Given the description of an element on the screen output the (x, y) to click on. 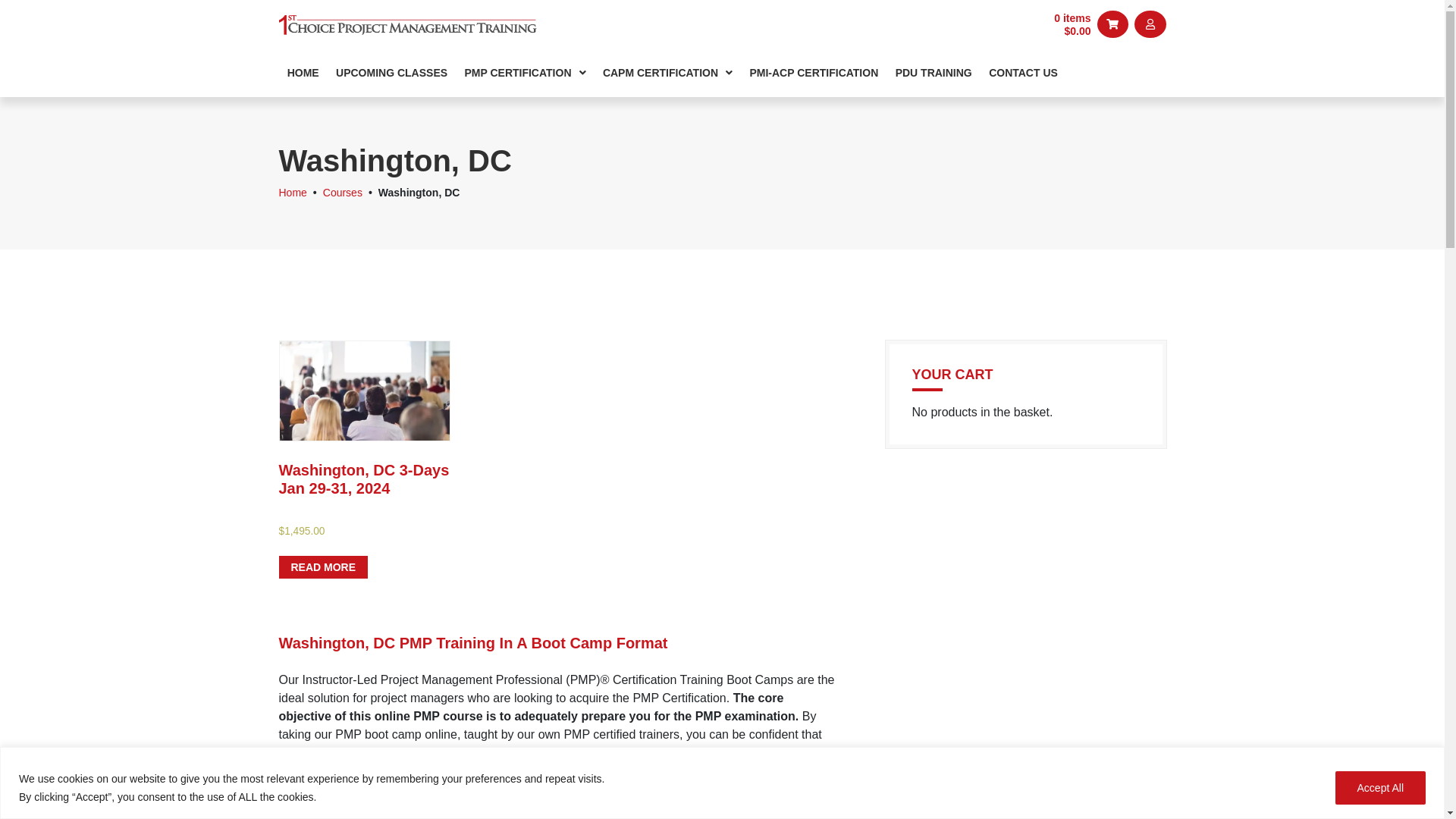
PMP CERTIFICATION Element type: text (524, 73)
CONTACT US Element type: text (1023, 73)
Courses Element type: text (342, 192)
Accept All Element type: text (1380, 786)
HOME Element type: text (303, 73)
PDU TRAINING Element type: text (933, 73)
UPCOMING CLASSES Element type: text (391, 73)
Washington, DC 3-Days Jan 29-31, 2024
$1,495.00 Element type: text (365, 456)
0 items
$0.00 Element type: text (1072, 24)
PMI-ACP CERTIFICATION Element type: text (813, 73)
Home Element type: text (293, 192)
CAPM CERTIFICATION Element type: text (667, 73)
READ MORE Element type: text (323, 566)
